Given the description of an element on the screen output the (x, y) to click on. 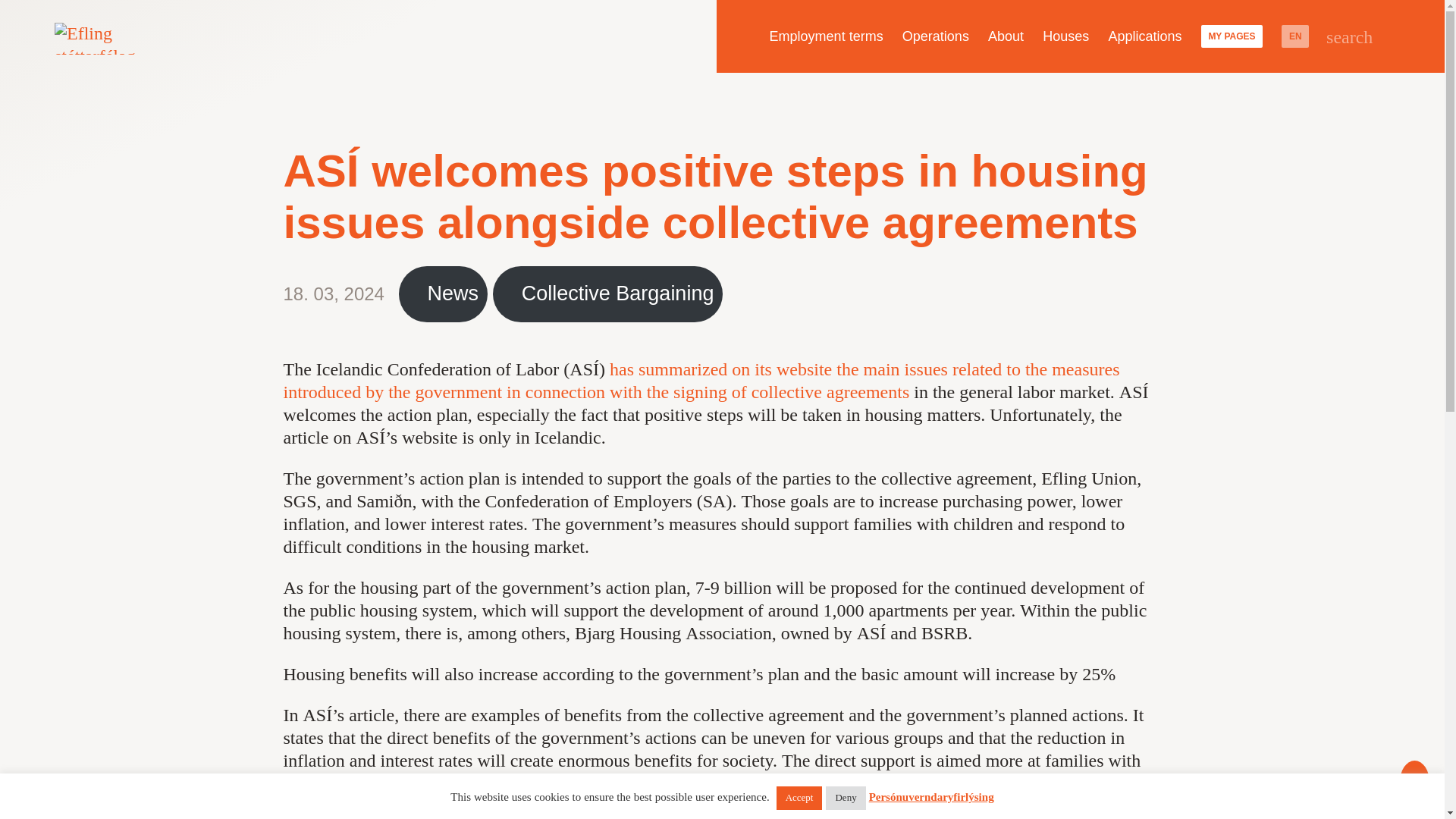
Operations (935, 36)
MY PAGES (1231, 36)
Employment terms (825, 36)
Applications (1144, 36)
